Given the description of an element on the screen output the (x, y) to click on. 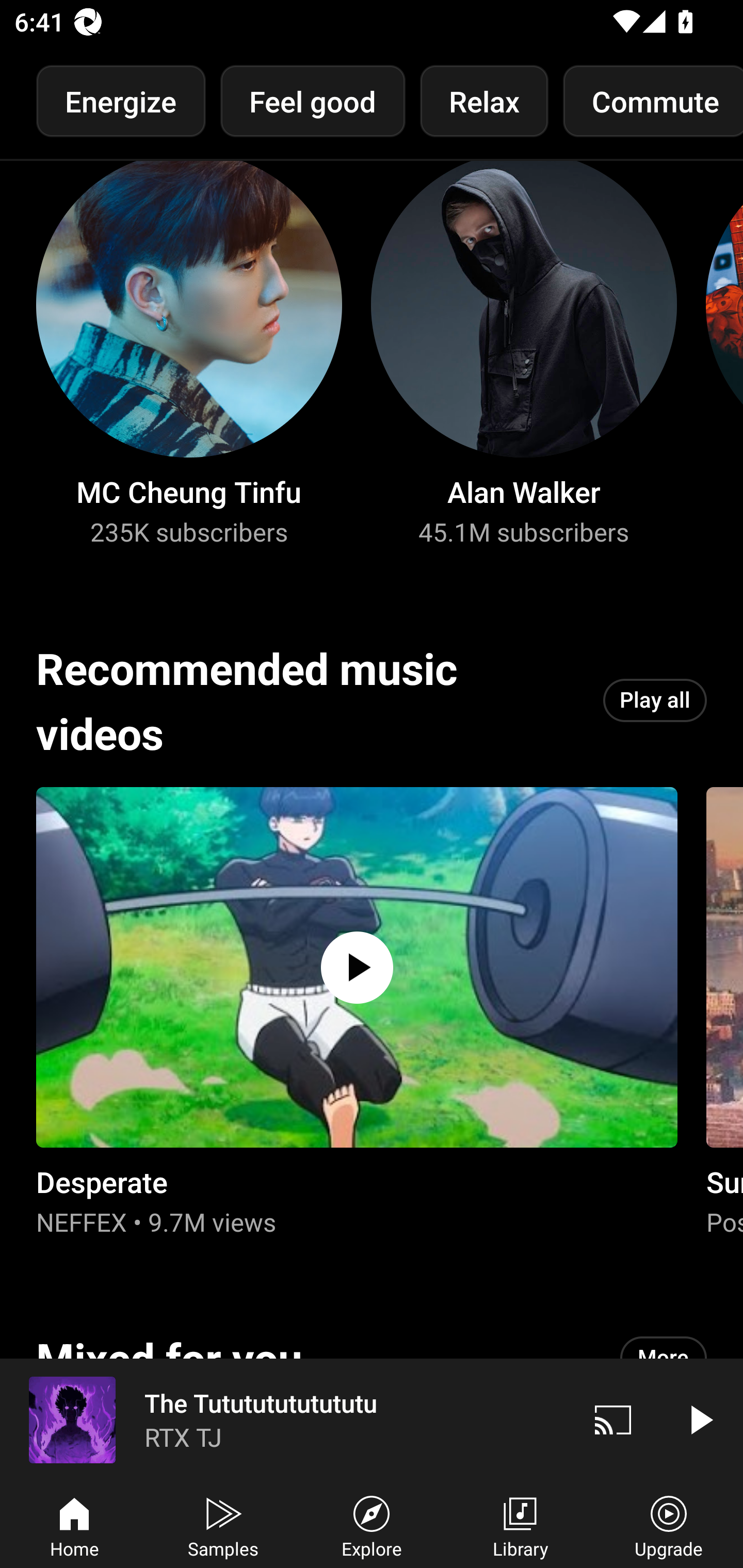
The Tutututututututu RTX TJ (284, 1419)
Cast. Disconnected (612, 1419)
Play video (699, 1419)
Home (74, 1524)
Samples (222, 1524)
Explore (371, 1524)
Library (519, 1524)
Upgrade (668, 1524)
